Given the description of an element on the screen output the (x, y) to click on. 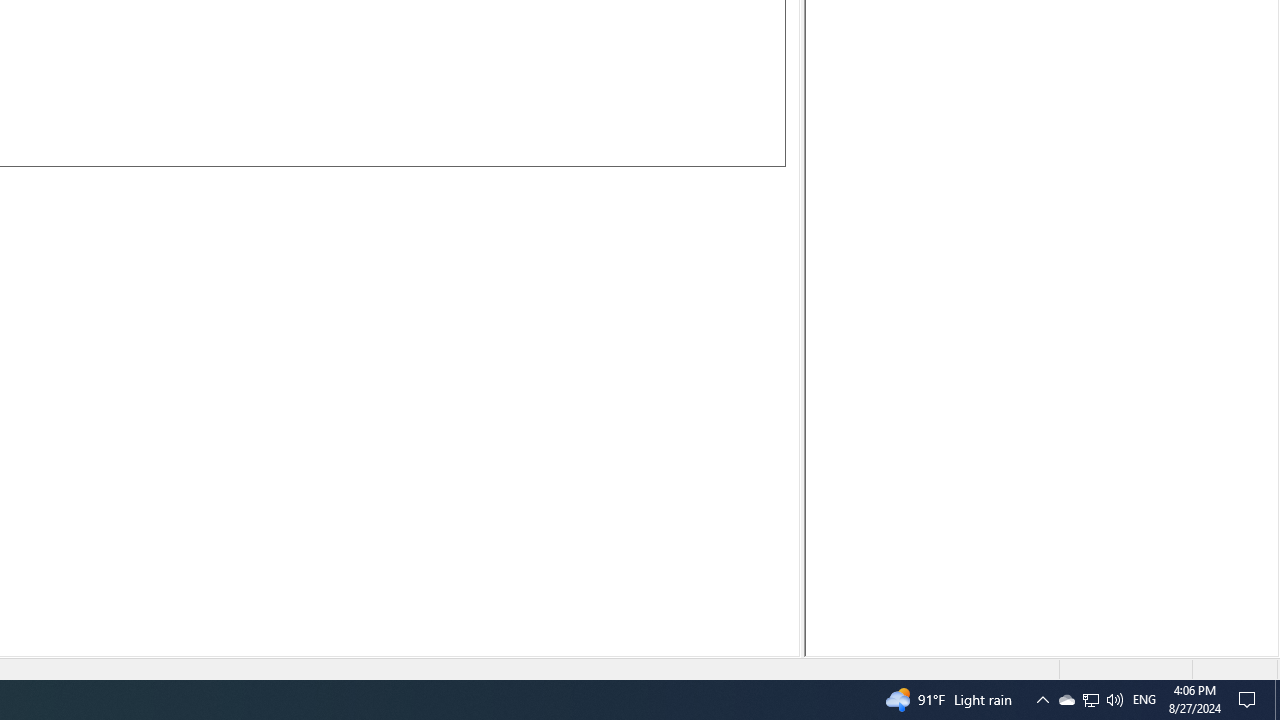
Tray Input Indicator - English (United States) (1144, 699)
